Given the description of an element on the screen output the (x, y) to click on. 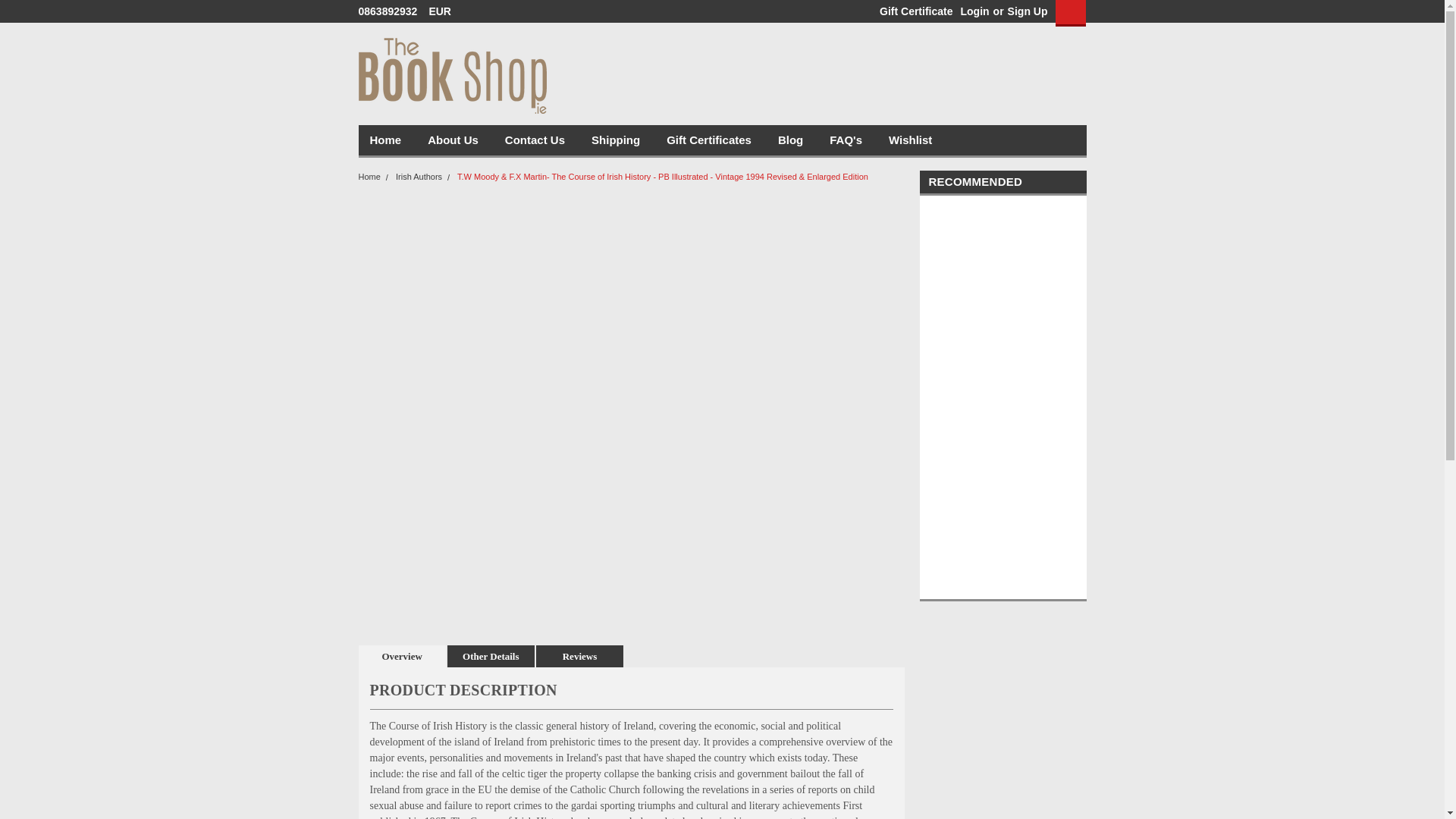
TheBookshop.ie (452, 75)
Login (973, 11)
Currency Selector (444, 11)
Sign Up (1026, 11)
EUR (444, 11)
Gift Certificate (912, 11)
